Given the description of an element on the screen output the (x, y) to click on. 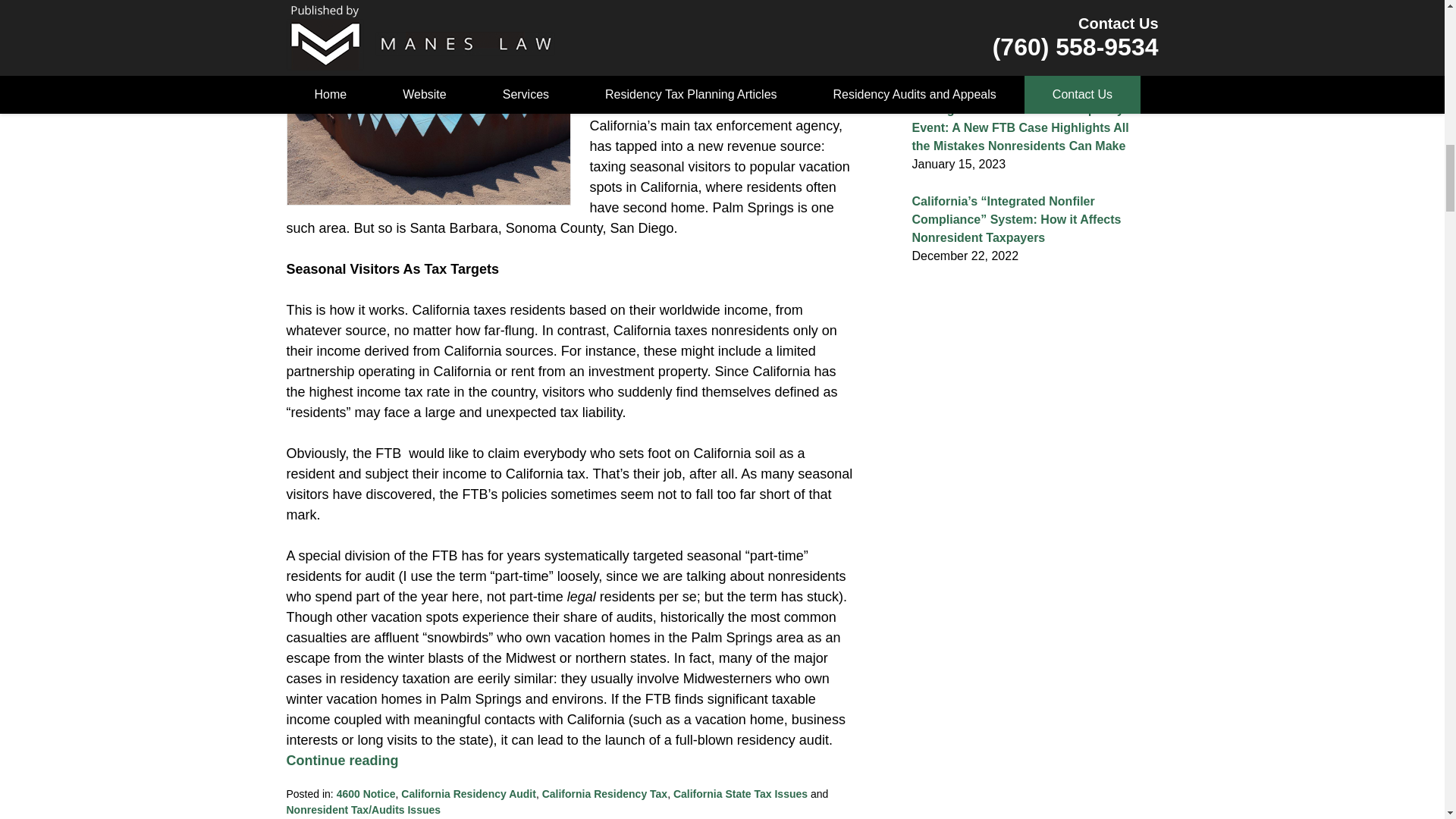
Continue reading (342, 760)
View all posts in California State Tax Issues (740, 793)
View all posts in 4600 Notice (366, 793)
View all posts in California Residency Audit (468, 793)
View all posts in California Residency Tax (603, 793)
